Given the description of an element on the screen output the (x, y) to click on. 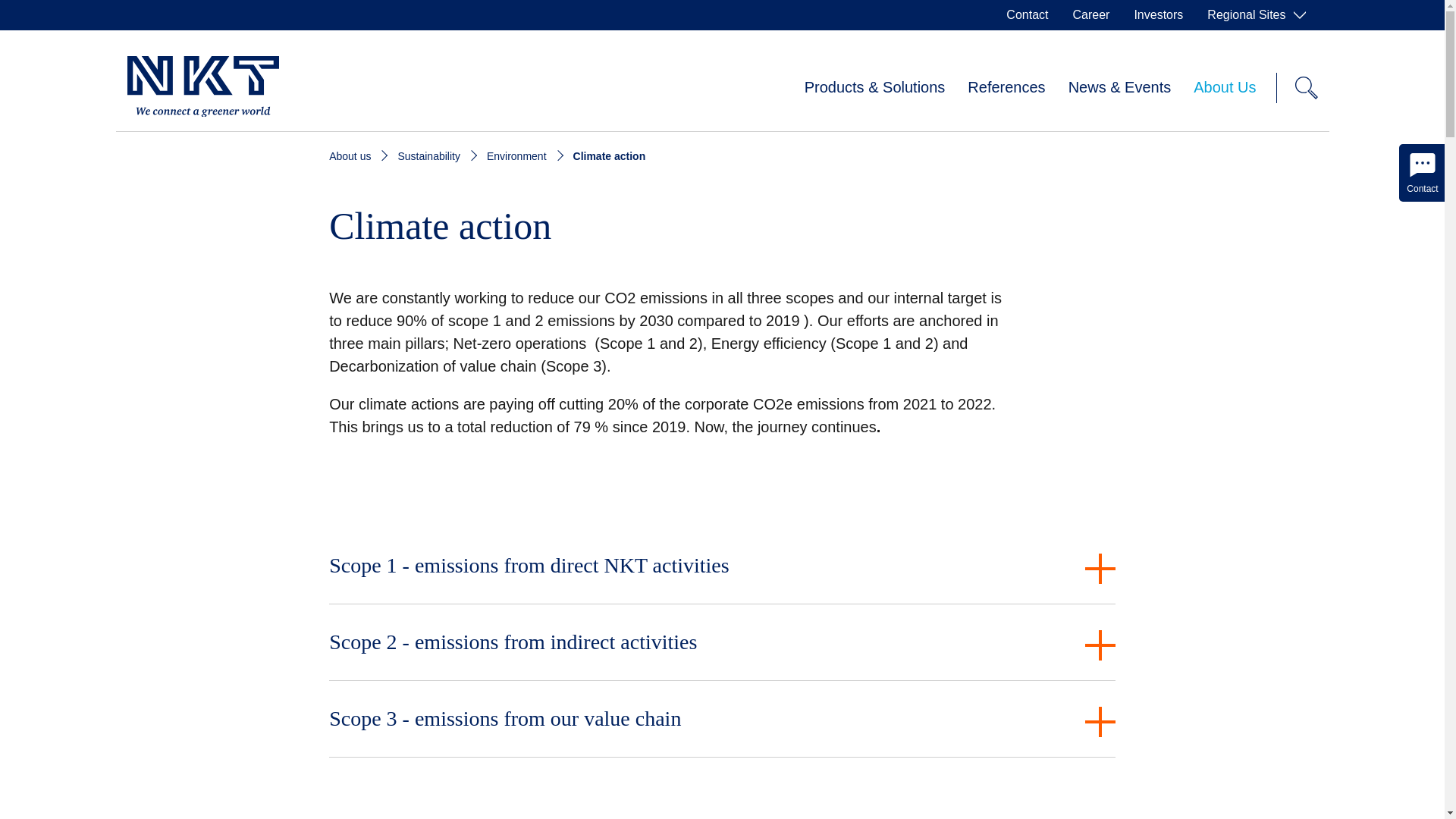
Investors (1158, 15)
Scope 2 - emissions from indirect activities (722, 641)
Contact (1026, 15)
To the homepage (203, 87)
Scope 3 - emissions from our value chain (722, 718)
Career (1090, 15)
Investors (1158, 15)
Contact (1026, 15)
Career (1090, 15)
Sustainability (428, 155)
